Given the description of an element on the screen output the (x, y) to click on. 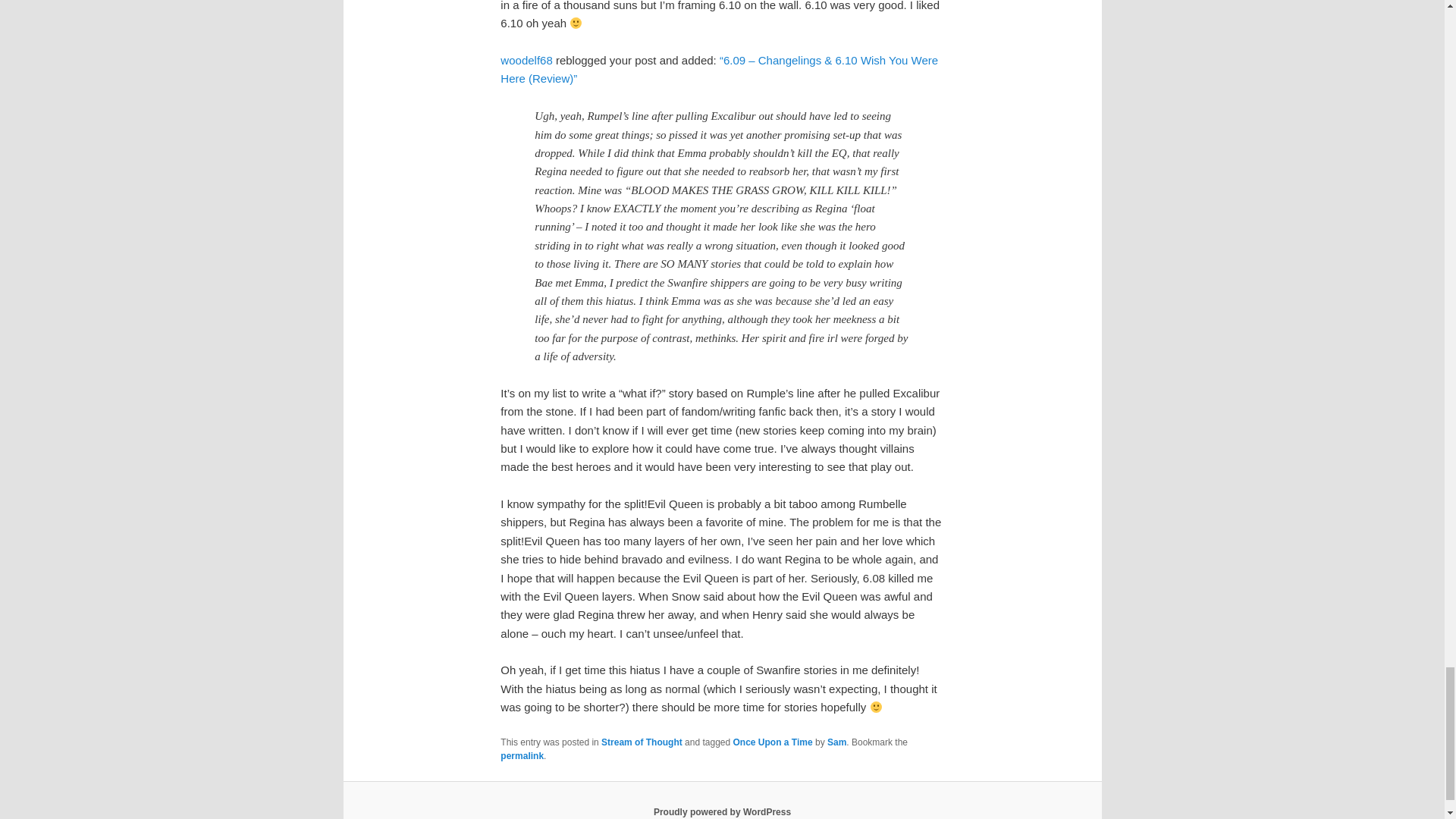
permalink (521, 756)
woodelf68 (525, 60)
Sam (836, 742)
Stream of Thought (641, 742)
Proudly powered by WordPress (721, 811)
Once Upon a Time (772, 742)
Semantic Personal Publishing Platform (721, 811)
